Given the description of an element on the screen output the (x, y) to click on. 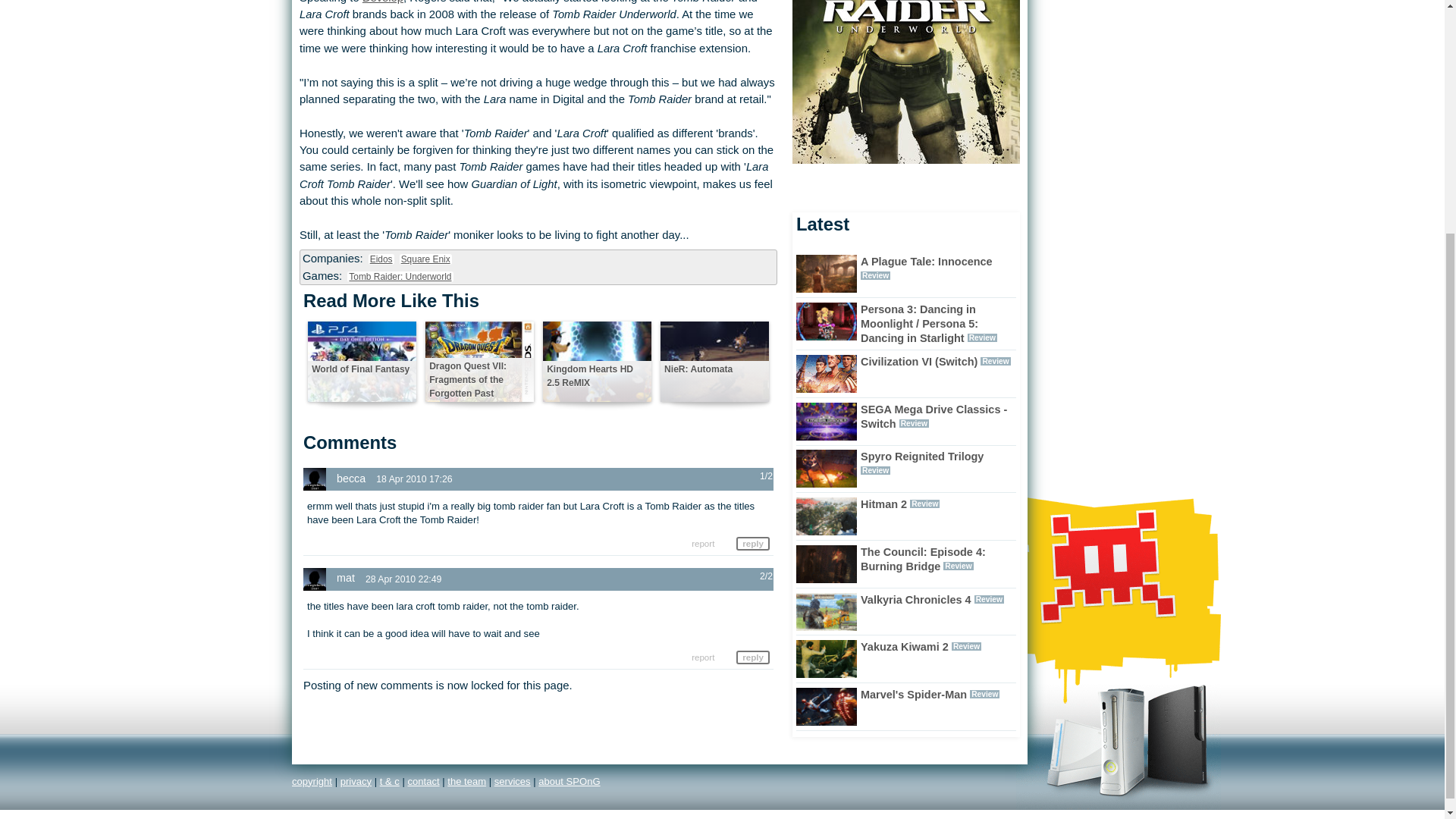
Report this post for abusing the rules (703, 543)
Report this post for abusing the rules (703, 656)
Advertisement (1095, 107)
